Given the description of an element on the screen output the (x, y) to click on. 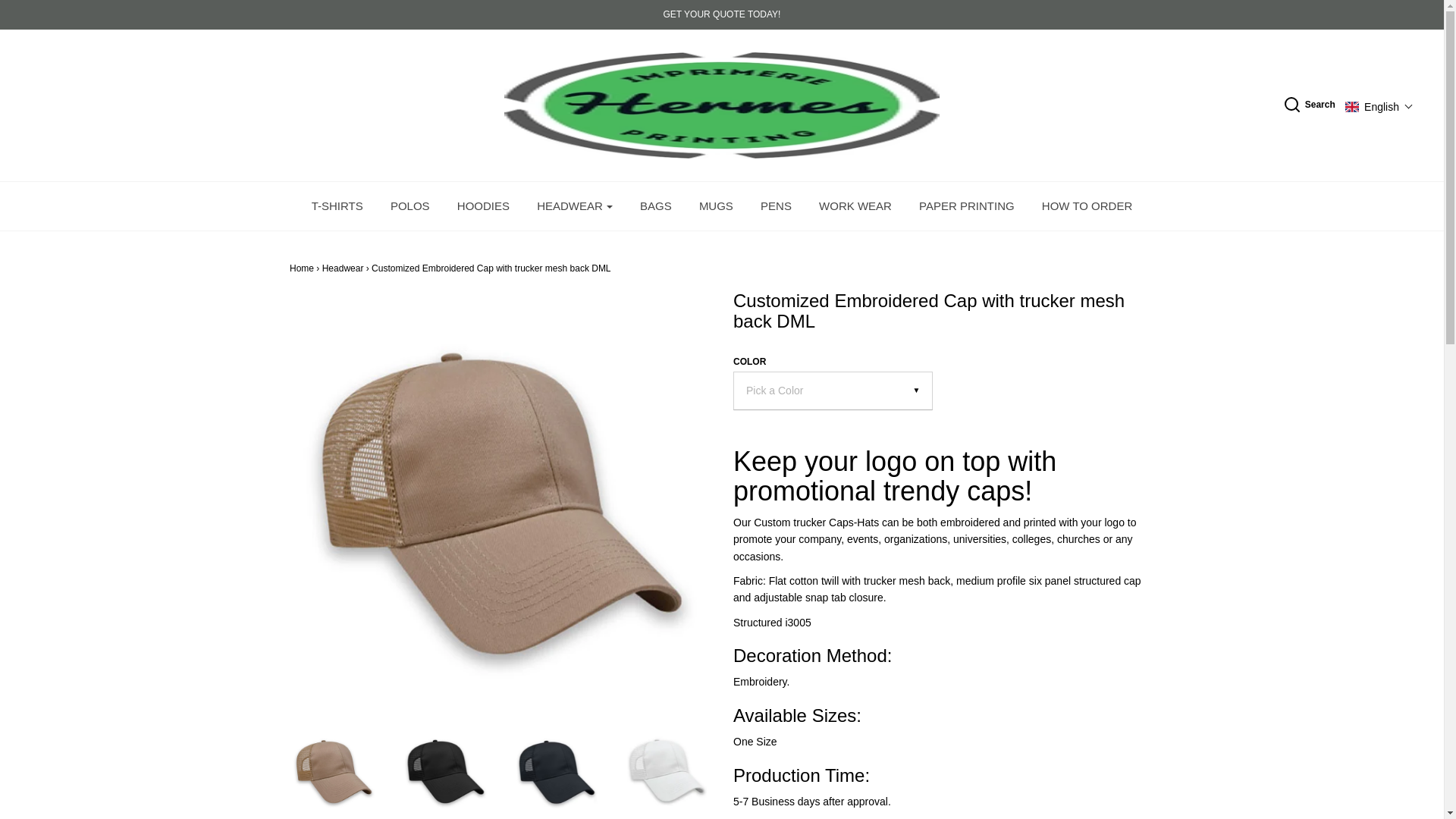
Back to the frontpage (301, 267)
Customized Embroidered Cap with trucker mesh back DML (666, 770)
Customized Embroidered Cap with trucker mesh back DML (554, 770)
BAGS (655, 205)
Customized Embroidered Cap with trucker mesh back DML (333, 770)
HOW TO ORDER (1086, 205)
Home (301, 267)
WORK WEAR (855, 205)
POLOS (409, 205)
